Given the description of an element on the screen output the (x, y) to click on. 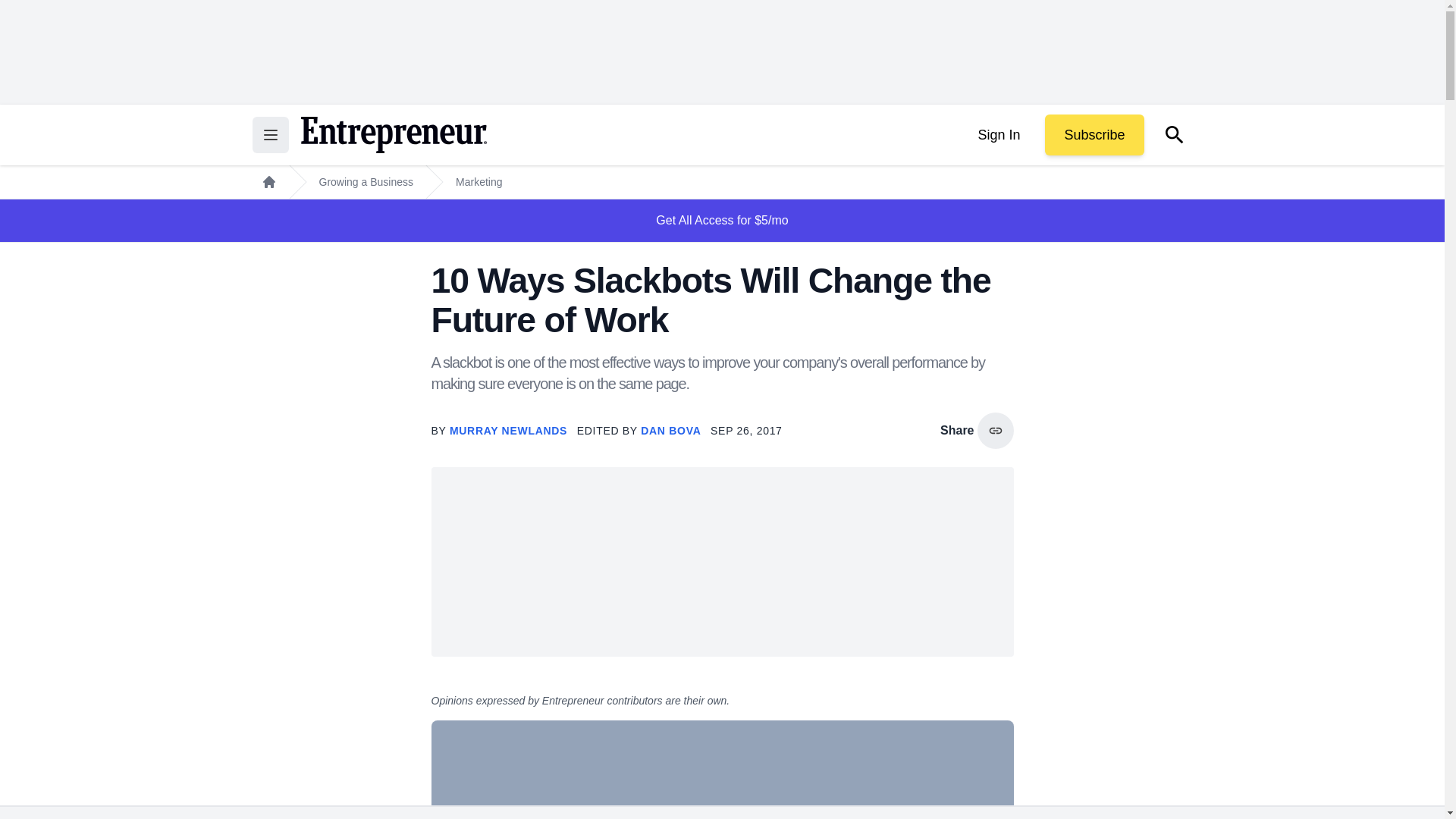
Sign In (998, 134)
Return to the home page (392, 135)
copy (994, 430)
Subscribe (1093, 134)
